Given the description of an element on the screen output the (x, y) to click on. 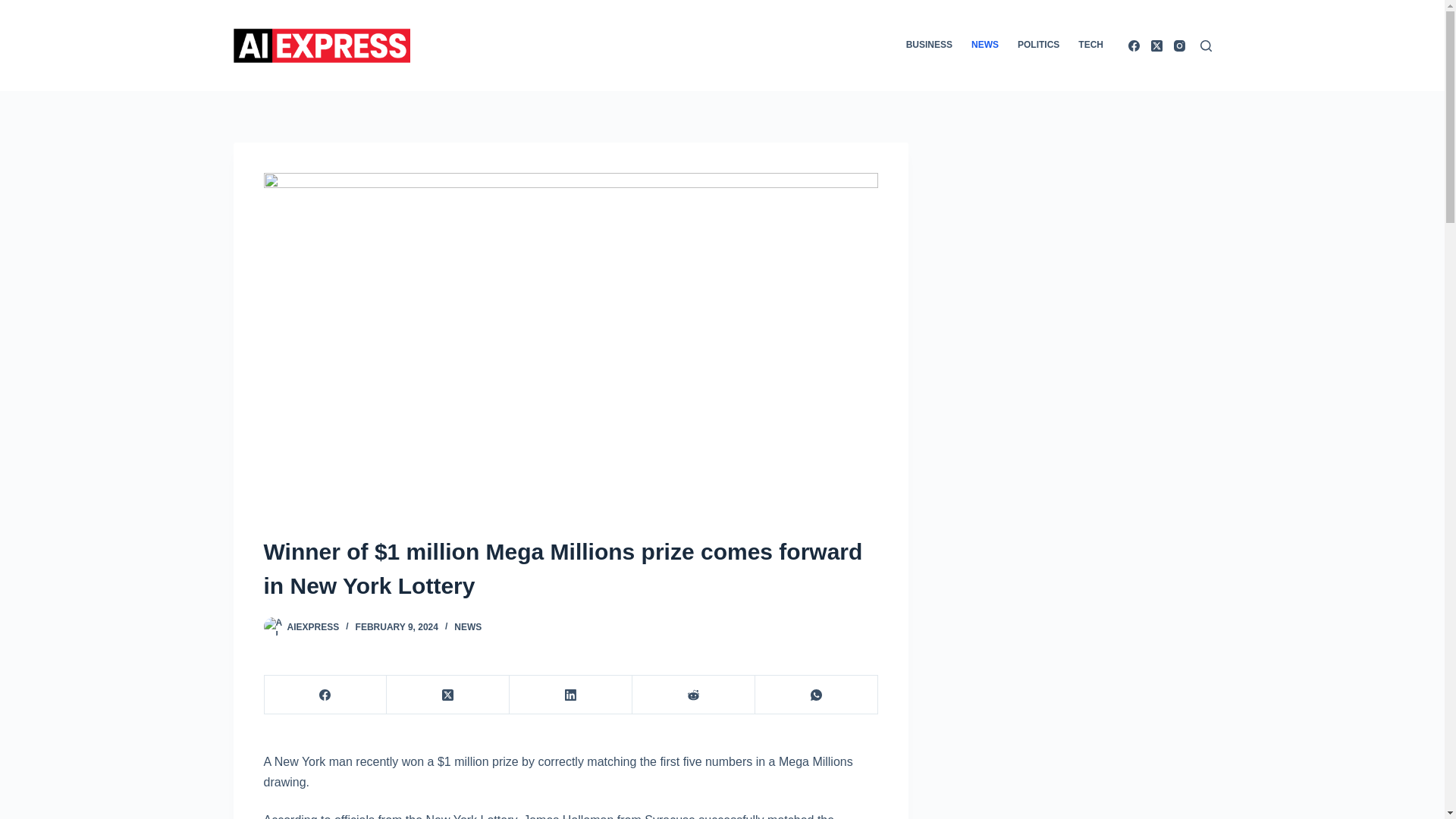
Skip to content (15, 7)
NEWS (467, 626)
AIEXPRESS (312, 626)
Posts by aiexpress (312, 626)
